Given the description of an element on the screen output the (x, y) to click on. 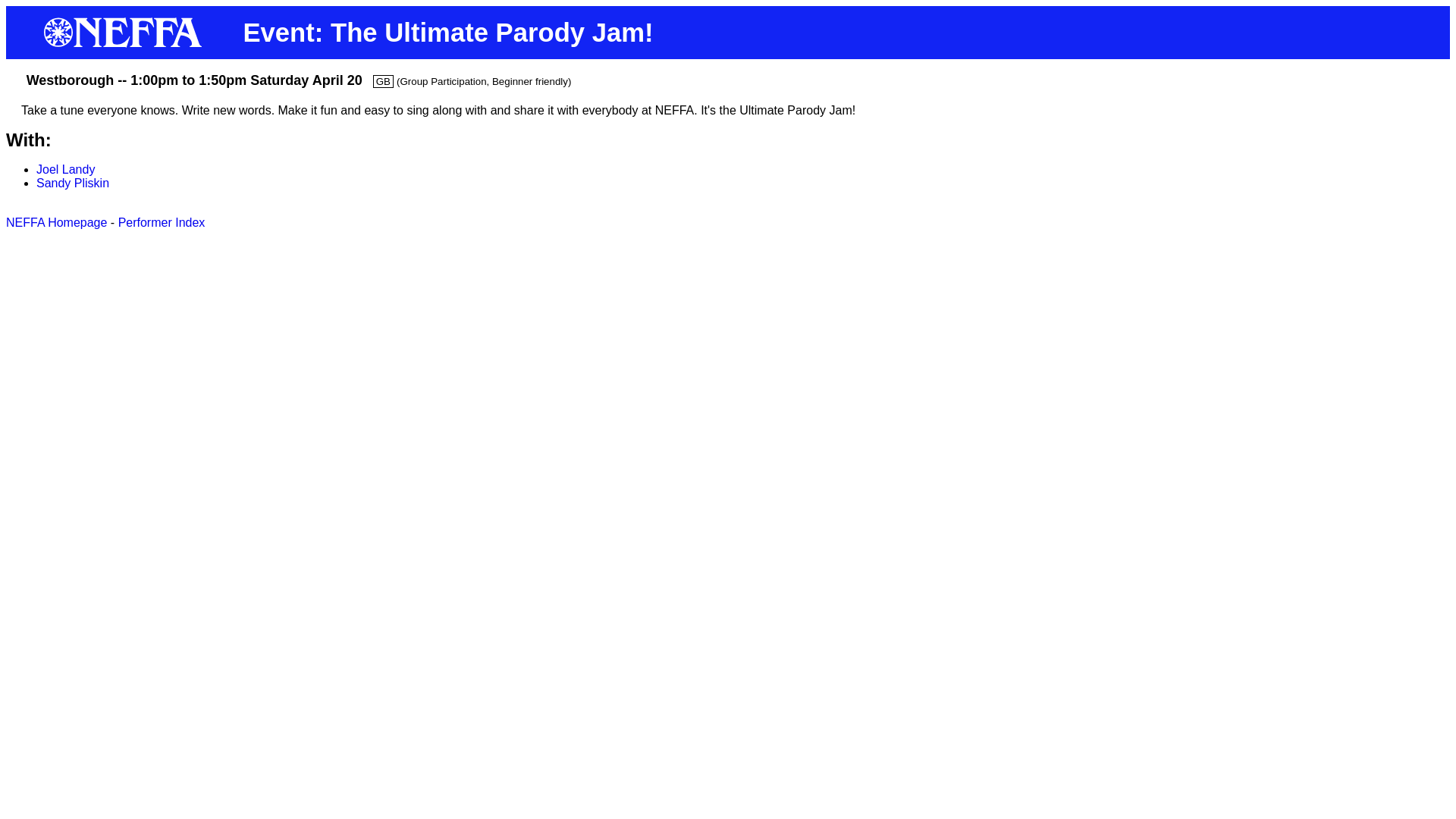
Joel Landy (65, 169)
NEFFA Homepage (55, 222)
Sandy Pliskin (72, 182)
Performer Index (161, 222)
NEFFA (124, 42)
